Given the description of an element on the screen output the (x, y) to click on. 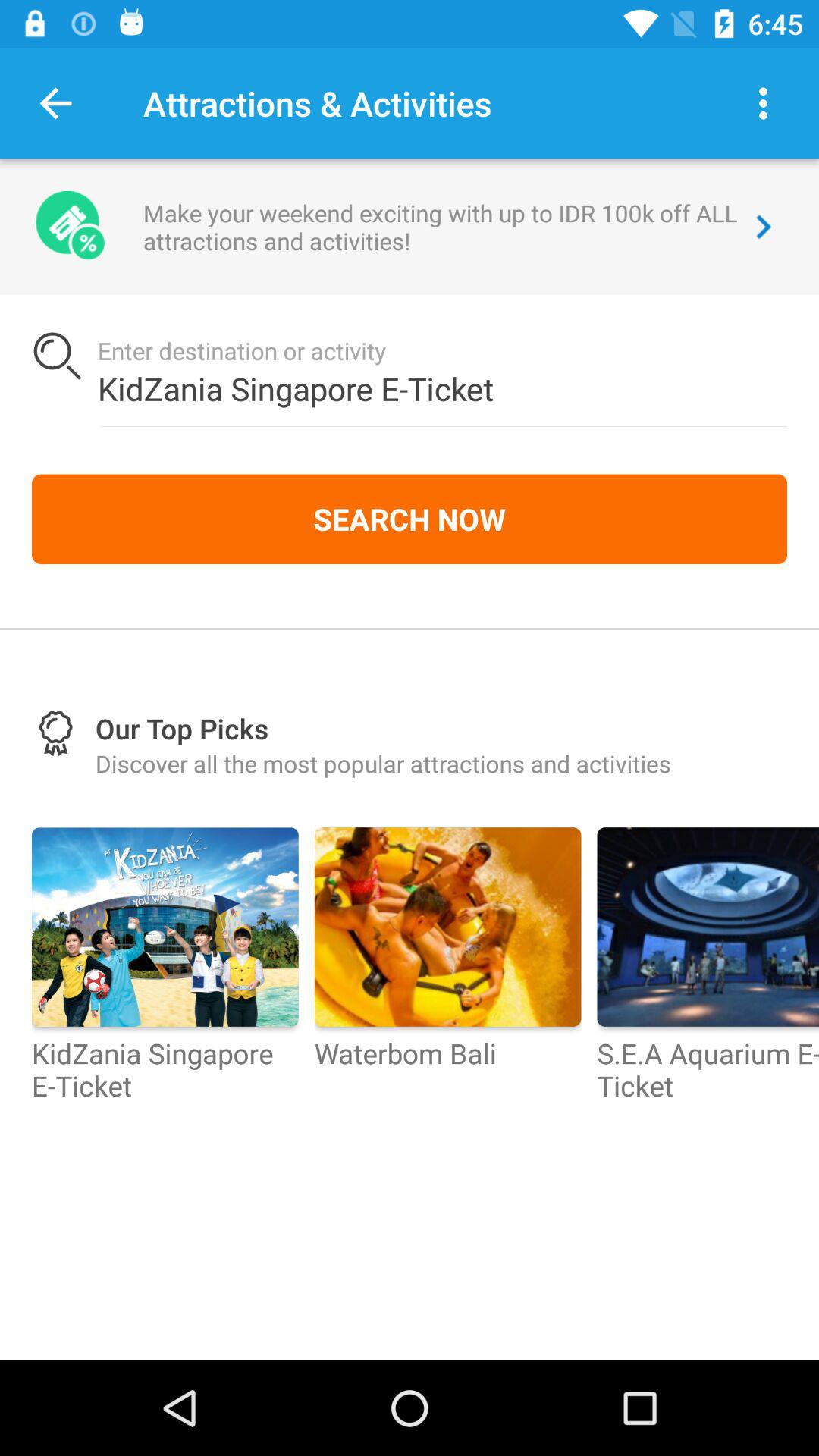
tap icon next to attractions & activities item (763, 103)
